Given the description of an element on the screen output the (x, y) to click on. 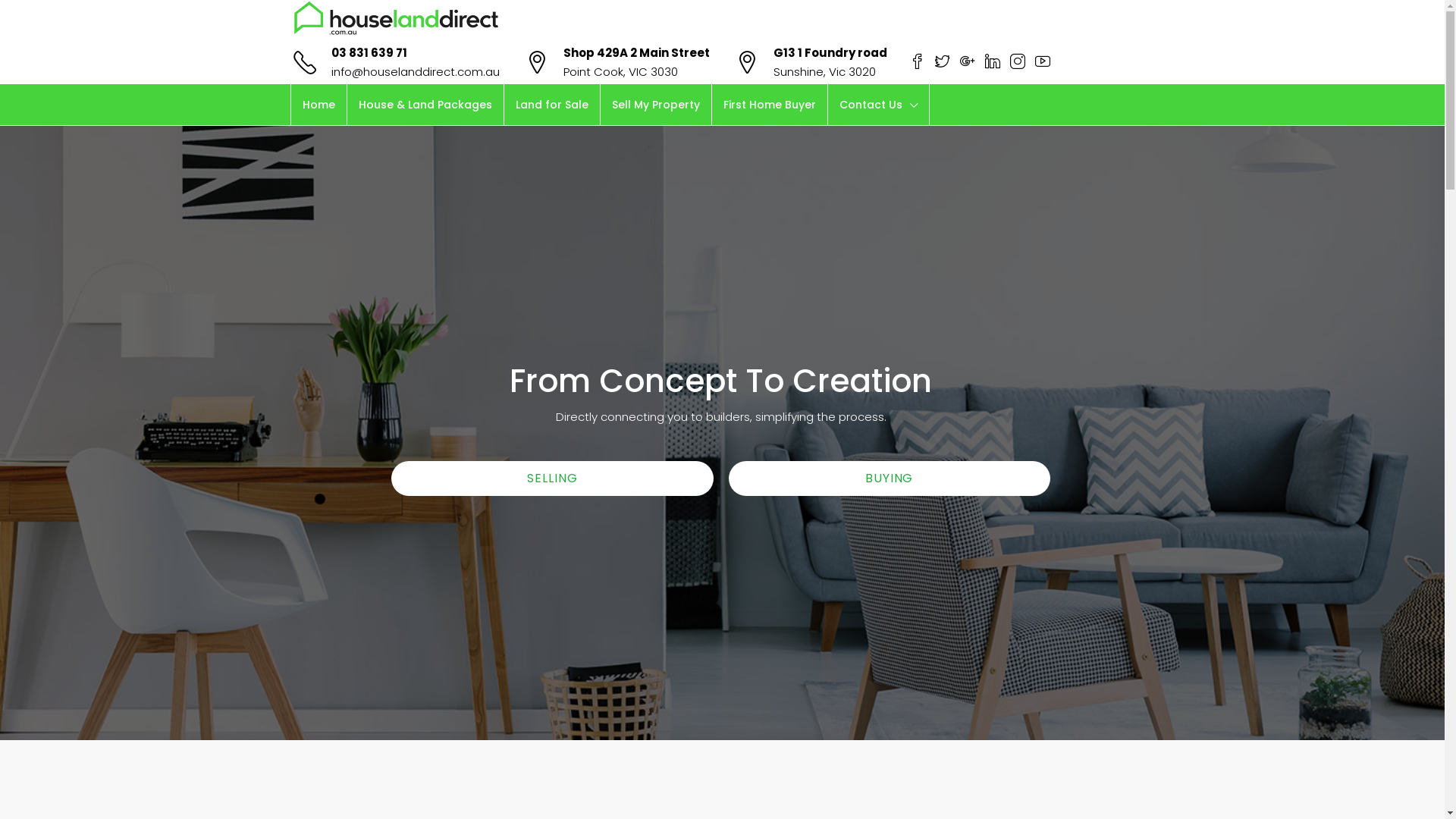
03 831 639 71 Element type: text (368, 52)
House & Land Packages Element type: text (425, 104)
info@houselanddirect.com.au Element type: text (414, 71)
Contact Us Element type: text (878, 104)
Land for Sale Element type: text (551, 104)
SELLING Element type: text (551, 478)
First Home Buyer Element type: text (768, 104)
BUYING Element type: text (889, 478)
Home Element type: text (318, 104)
Sell My Property Element type: text (655, 104)
